Given the description of an element on the screen output the (x, y) to click on. 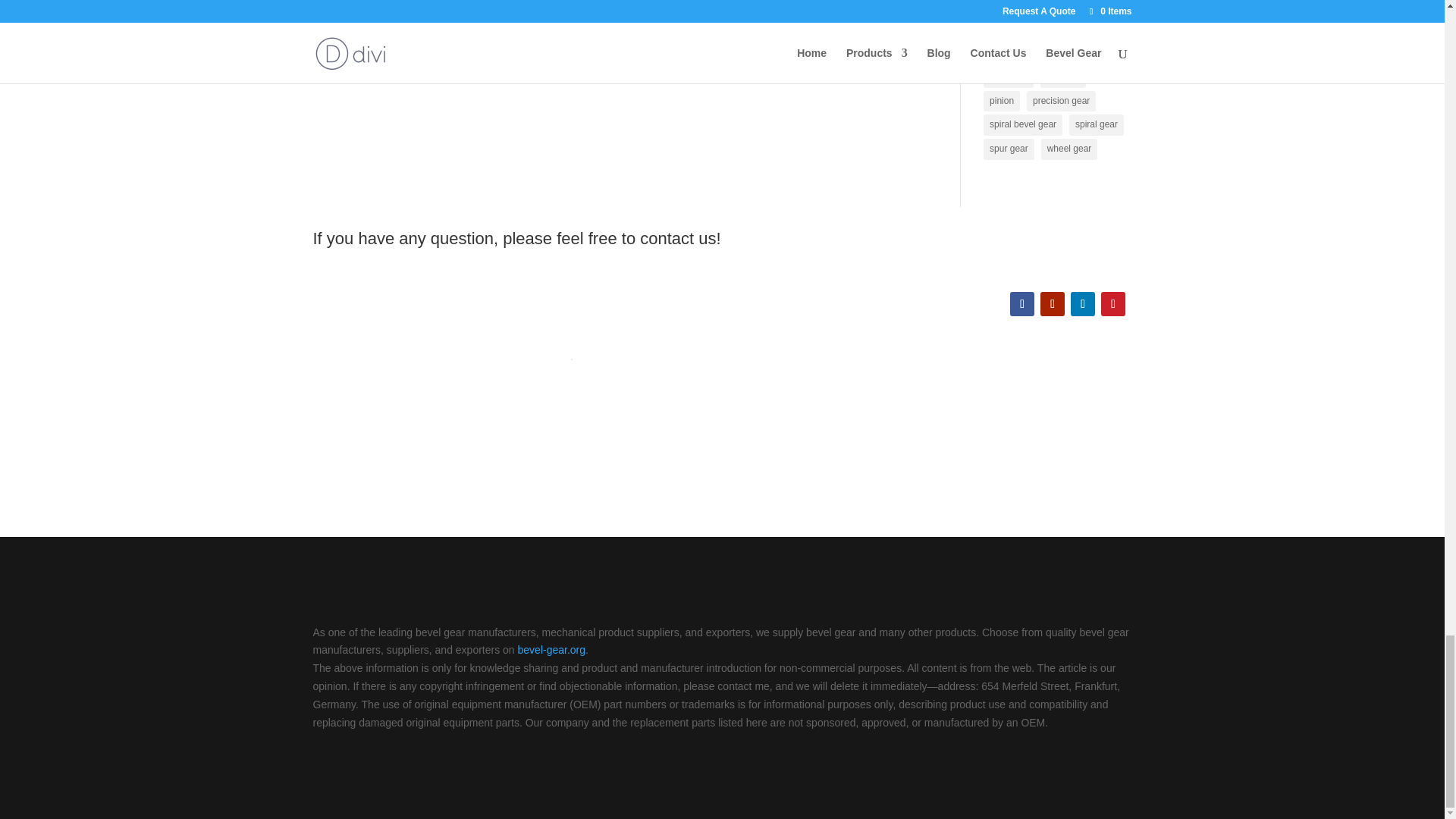
Follow on Facebook (1021, 303)
Follow on LinkedIn (1082, 303)
Follow on Pinterest (1112, 303)
Follow on Youtube (1052, 303)
